Given the description of an element on the screen output the (x, y) to click on. 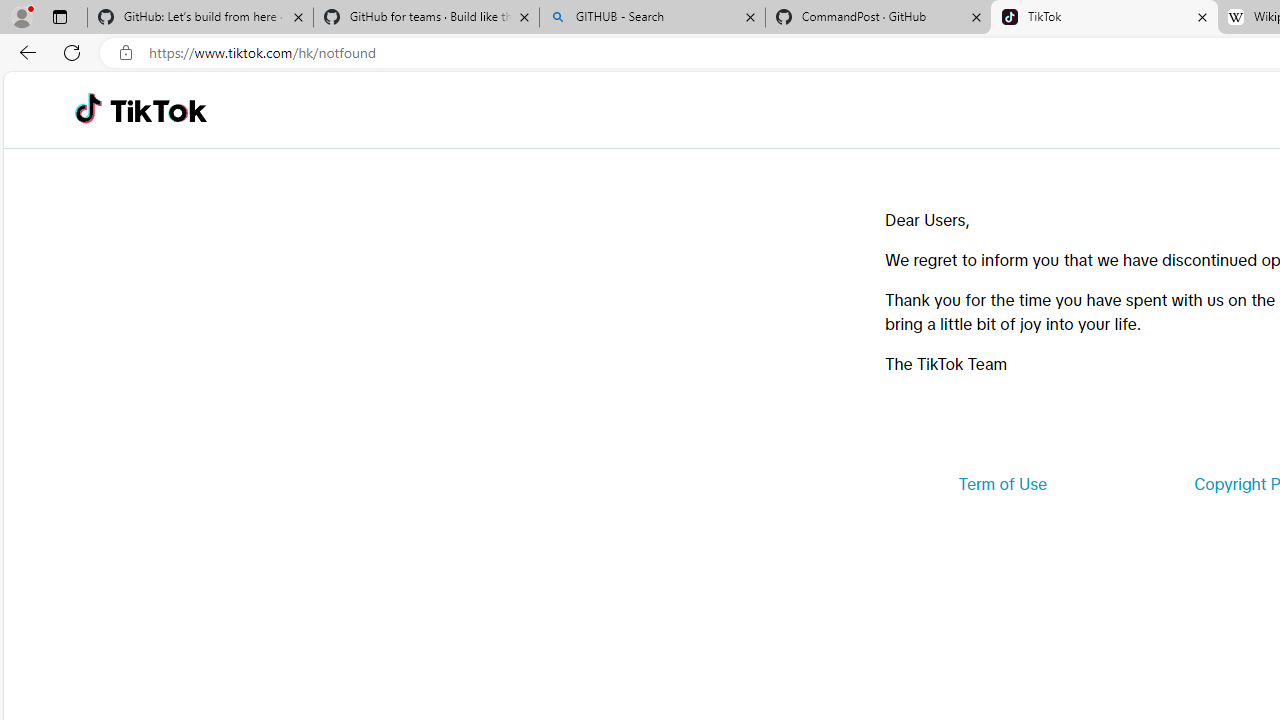
TikTok (1104, 17)
Term of Use (1002, 484)
TikTok (158, 110)
GITHUB - Search (652, 17)
